Given the description of an element on the screen output the (x, y) to click on. 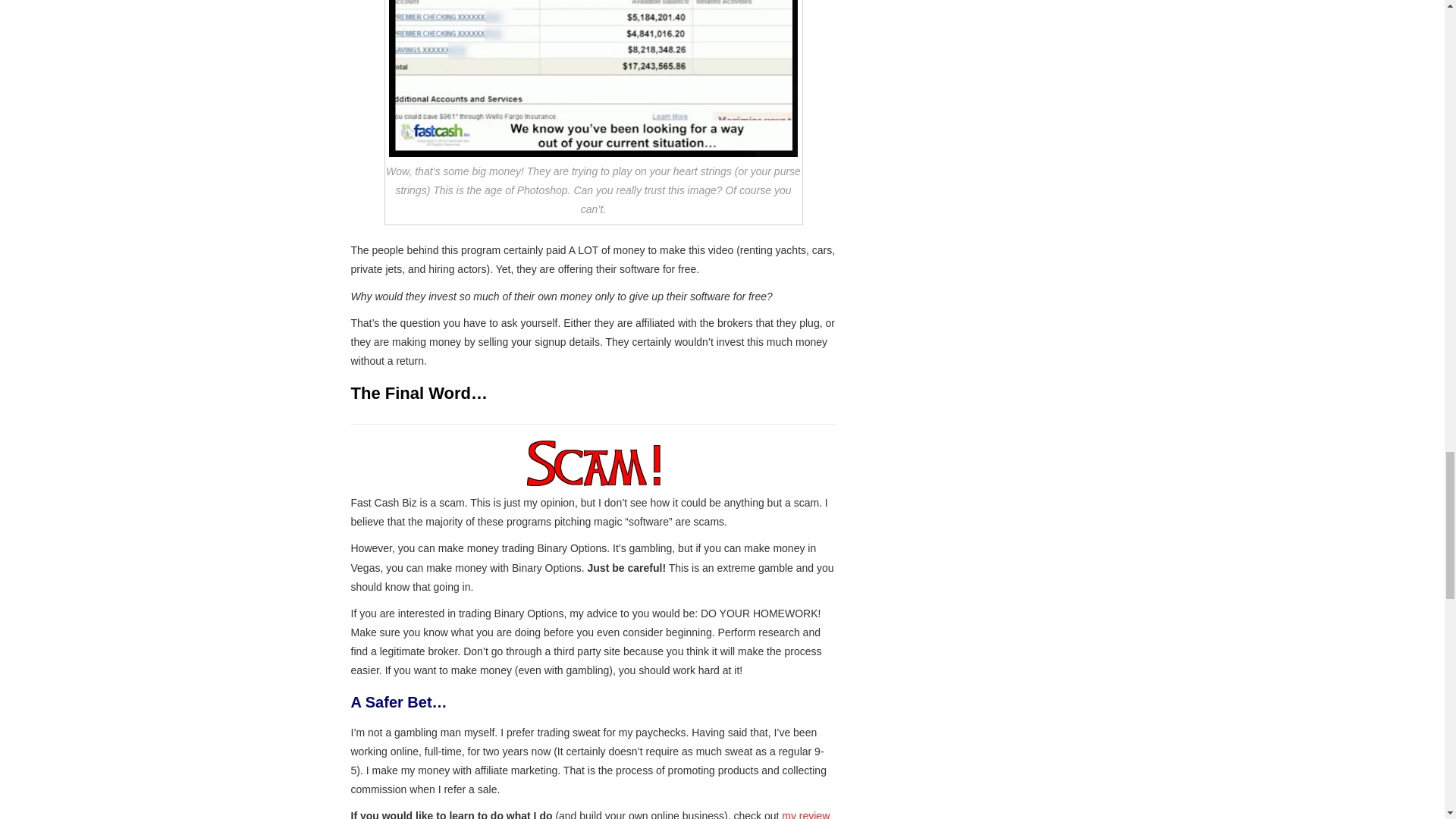
my review (805, 814)
